Given the description of an element on the screen output the (x, y) to click on. 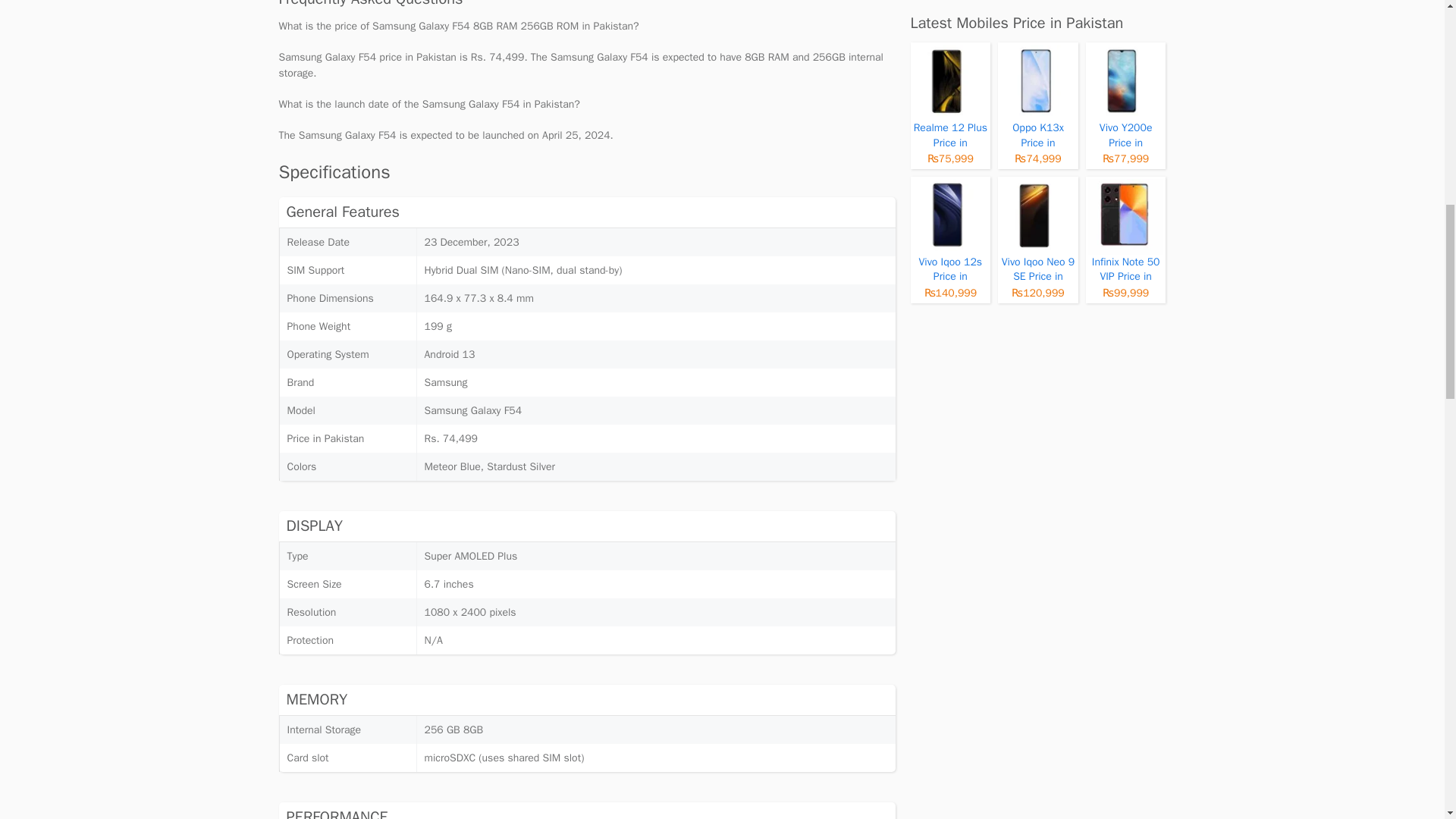
Scroll back to top (1406, 720)
